Given the description of an element on the screen output the (x, y) to click on. 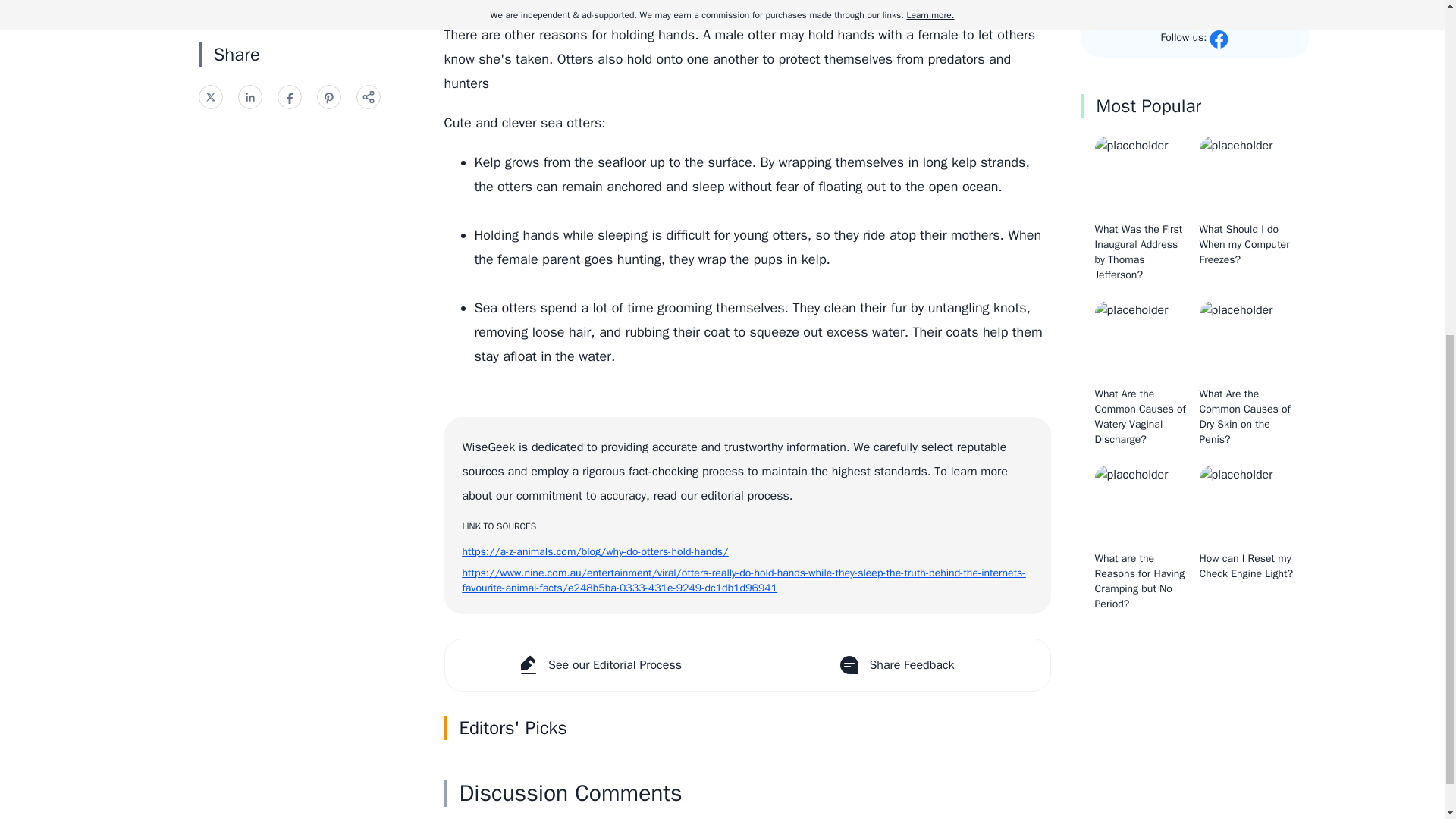
See our Editorial Process (595, 665)
Follow us: (1194, 39)
Share Feedback (898, 665)
Subscribe (1195, 10)
